Given the description of an element on the screen output the (x, y) to click on. 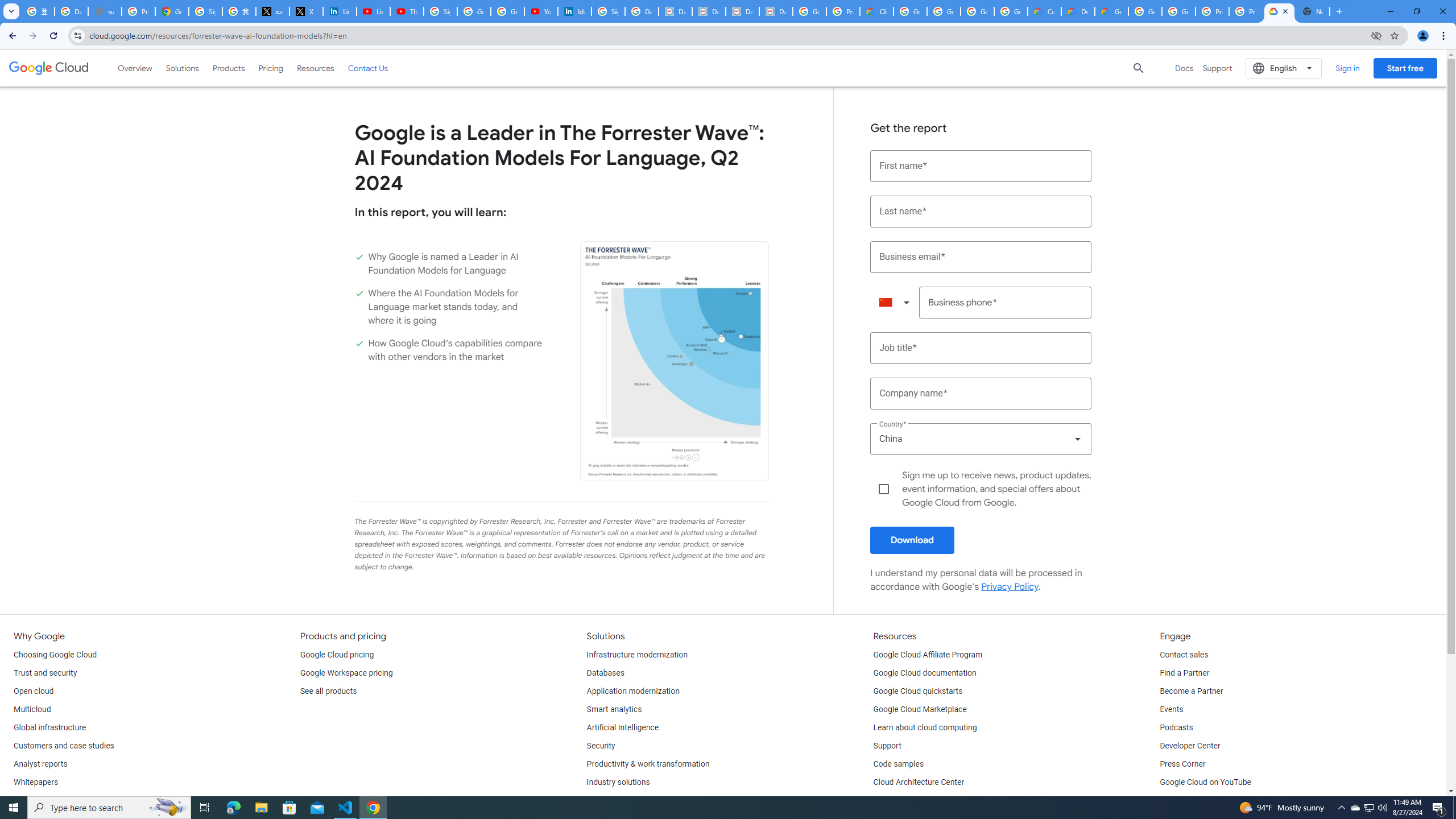
Google Cloud Marketplace (919, 710)
Calling Code (+86) (894, 302)
Business email* (981, 256)
Podcasts (1175, 728)
Choosing Google Cloud (55, 655)
Docs (1183, 67)
Training (887, 800)
Start free (1405, 67)
